Given the description of an element on the screen output the (x, y) to click on. 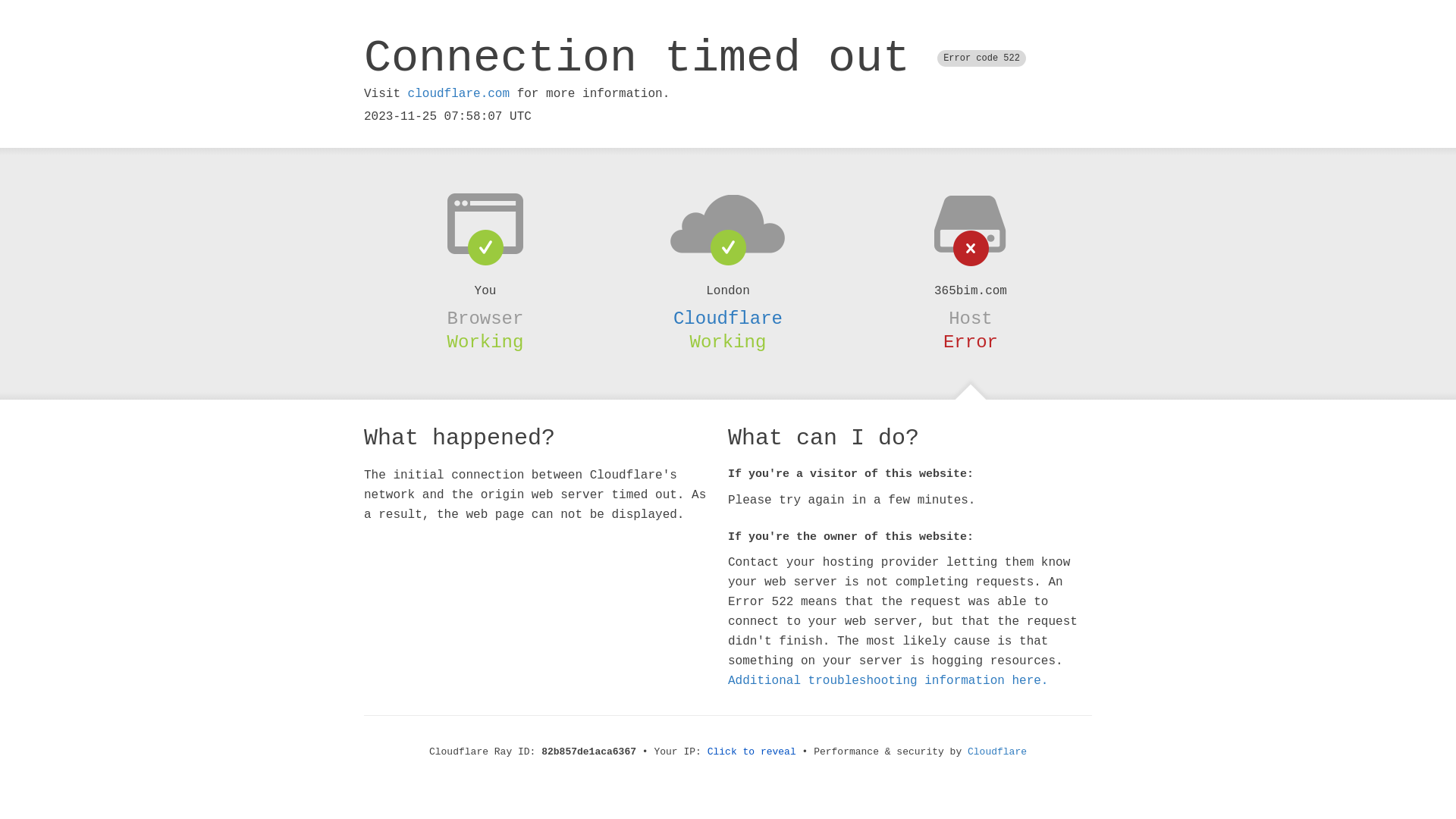
Additional troubleshooting information here. Element type: text (888, 680)
Cloudflare Element type: text (996, 751)
cloudflare.com Element type: text (458, 93)
Click to reveal Element type: text (751, 751)
Cloudflare Element type: text (727, 318)
